Given the description of an element on the screen output the (x, y) to click on. 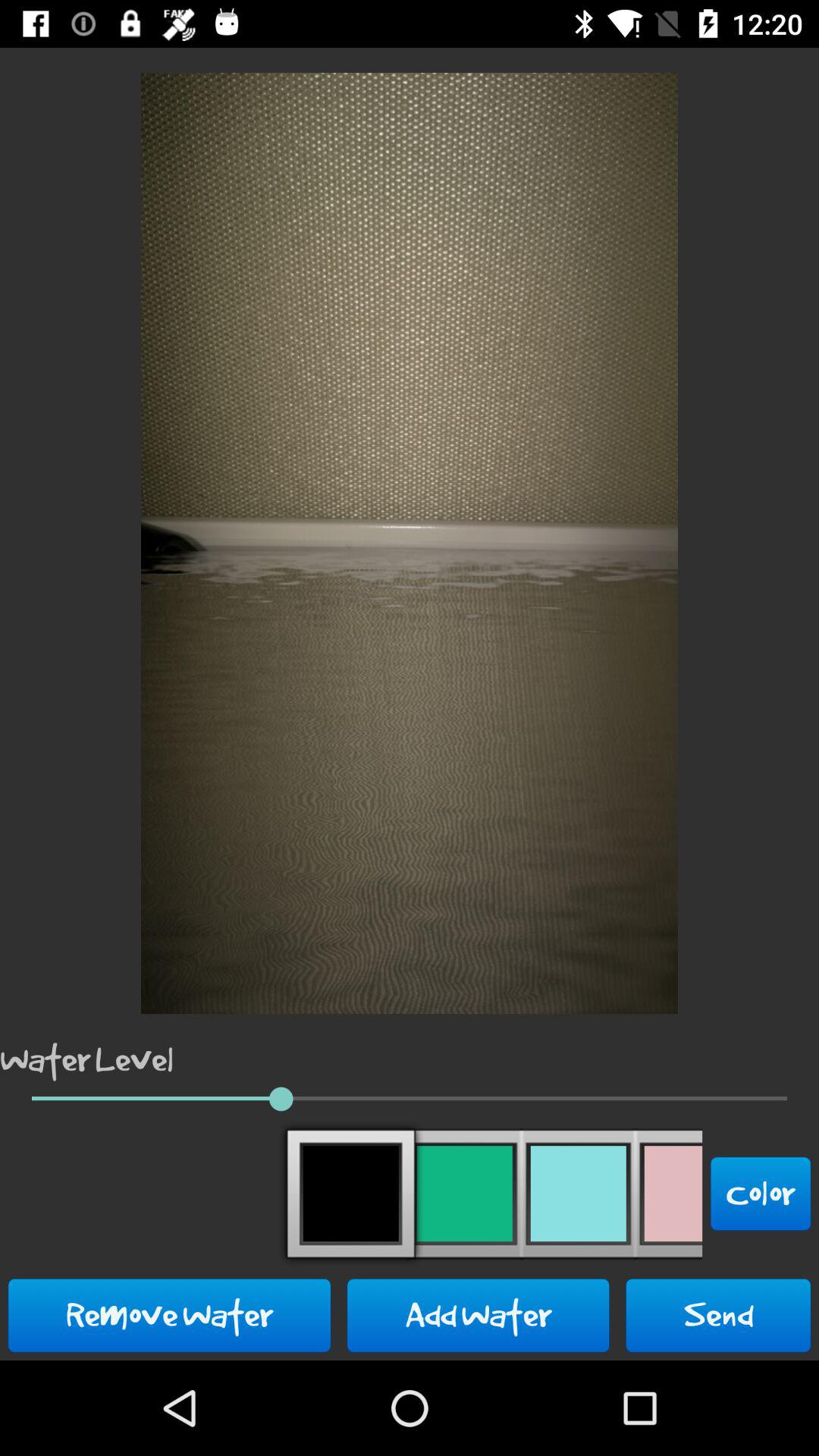
click the remove water icon (169, 1315)
